Given the description of an element on the screen output the (x, y) to click on. 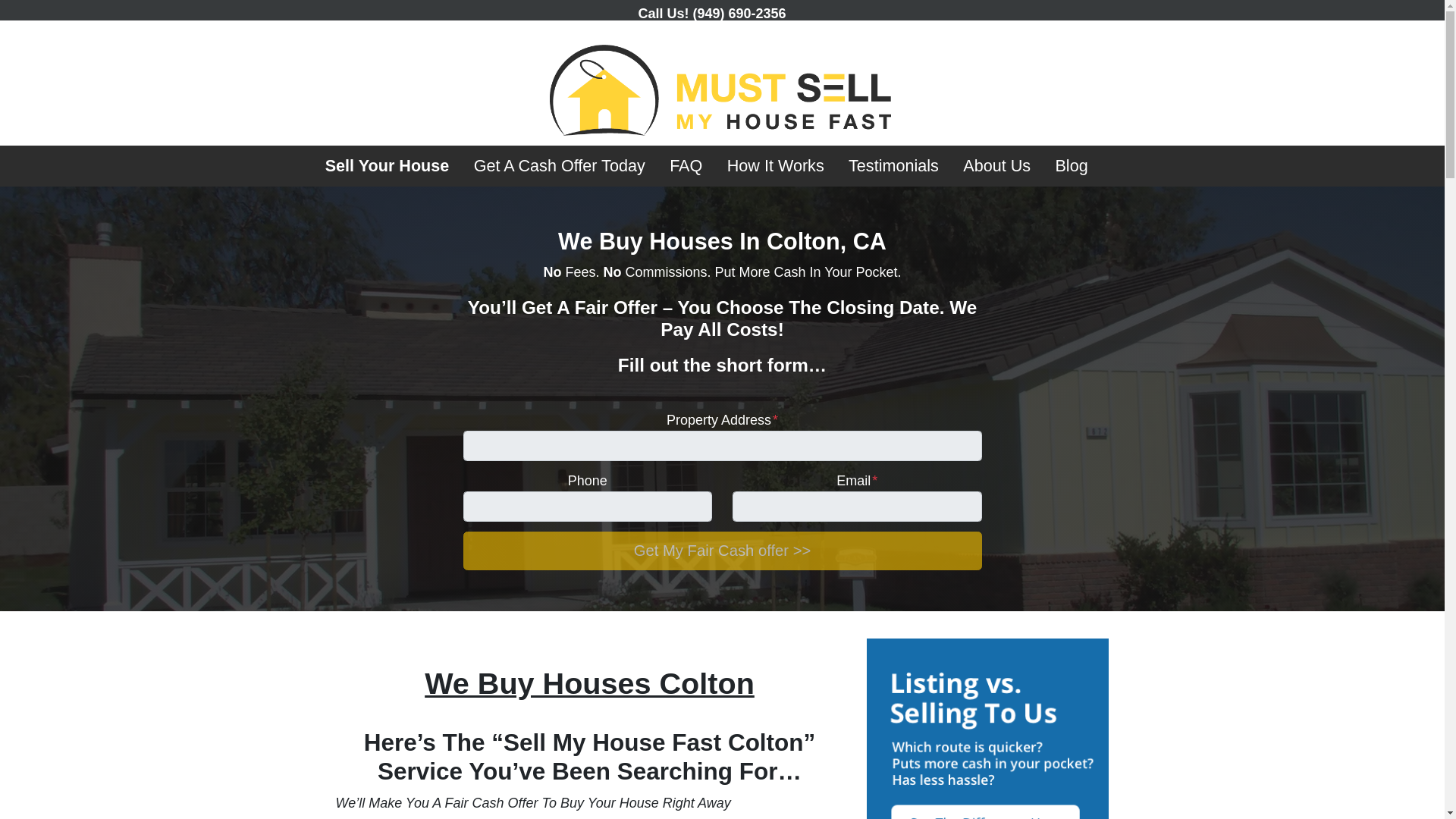
Blog (1071, 165)
Get A Cash Offer Today (558, 165)
About Us (996, 165)
FAQ (686, 165)
 Sell Your House  (387, 165)
Blog (1071, 165)
Testimonials (892, 165)
How It Works (774, 165)
FAQ (686, 165)
Testimonials (892, 165)
